Given the description of an element on the screen output the (x, y) to click on. 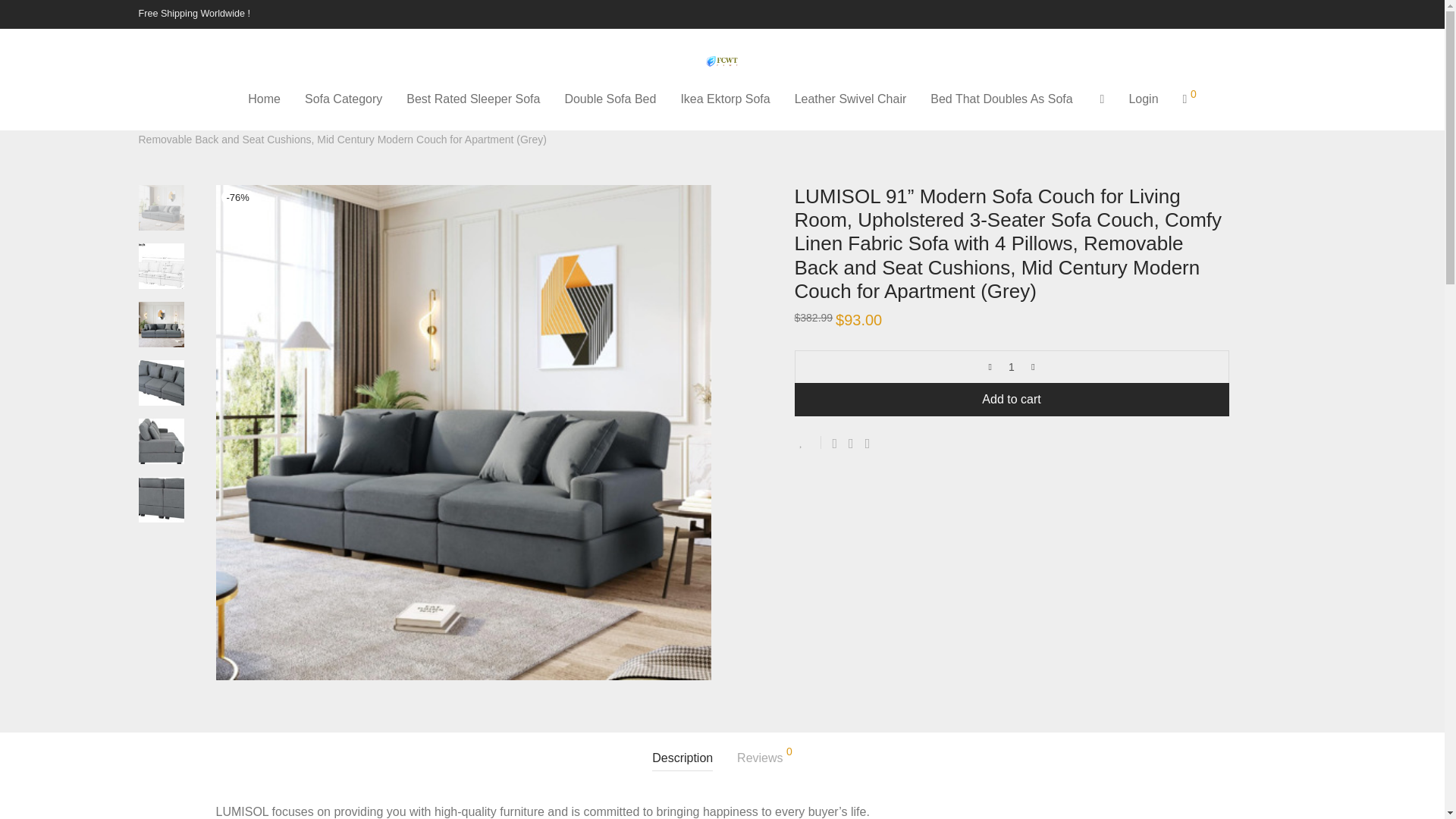
0 (1189, 99)
Share on Facebook (835, 443)
Home (151, 117)
Sofa Category (343, 99)
Ikea Ektorp Sofa (724, 99)
Leather Swivel Chair (850, 99)
Sofa Category (214, 117)
1 (1011, 367)
Add to Wishlist (807, 441)
Double Sofa Bed (609, 99)
Bed That Doubles As Sofa (1001, 99)
Reviews 0 (764, 758)
Description (682, 758)
Home (263, 99)
Login (1143, 99)
